Given the description of an element on the screen output the (x, y) to click on. 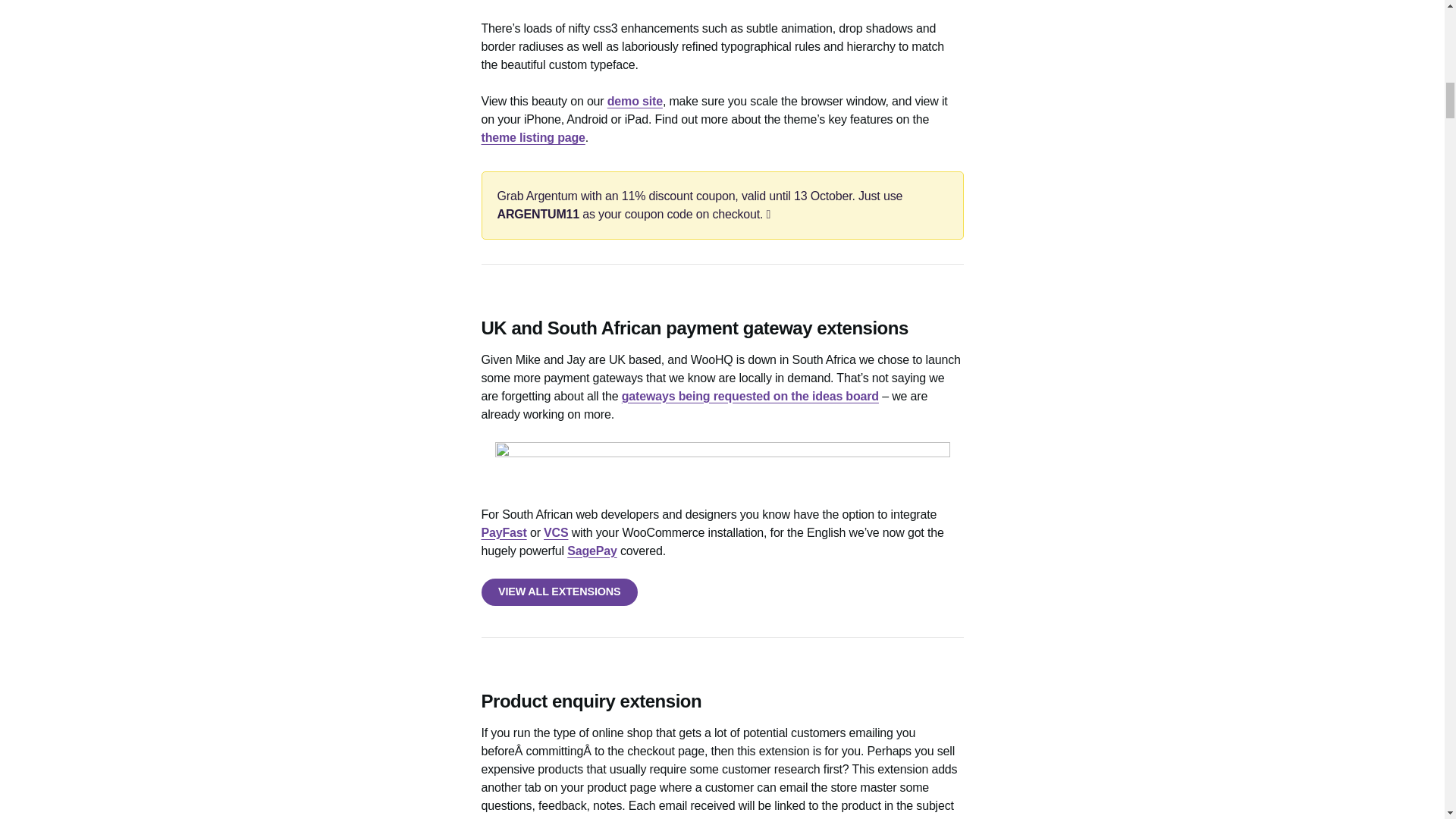
VCS (555, 532)
Payment Gateways (750, 395)
gateways (722, 463)
PayFast (502, 532)
SagePay (591, 550)
Argentum Theme Listing Page (532, 137)
gateways being requested on the ideas board (750, 395)
PayFast (502, 532)
Argentum (634, 101)
theme listing page (532, 137)
demo site (634, 101)
VCS (555, 532)
VIEW ALL EXTENSIONS (558, 591)
SagePay (591, 550)
